Given the description of an element on the screen output the (x, y) to click on. 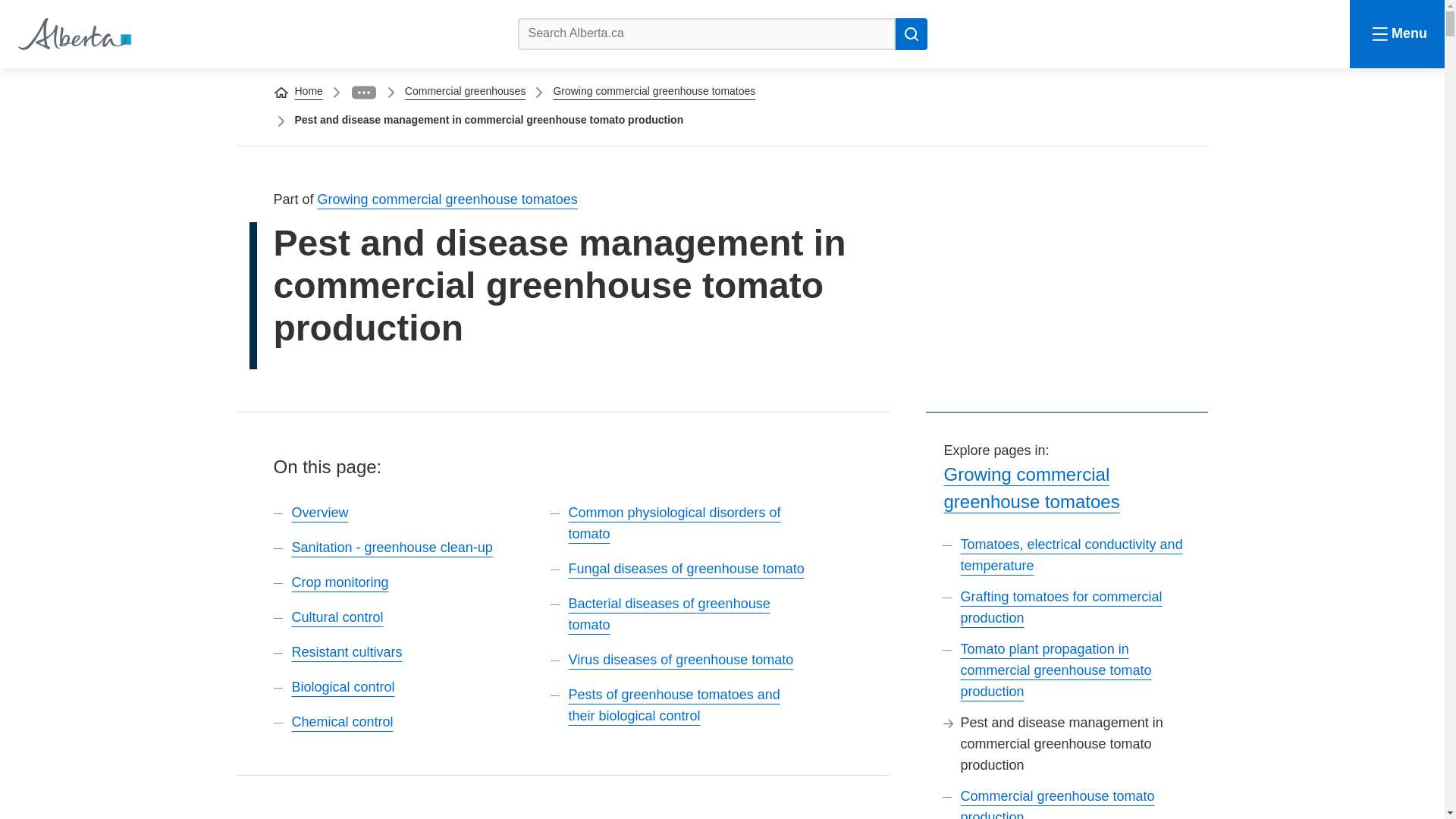
Growing commercial greenhouse tomatoes (654, 91)
Home (307, 91)
Growing commercial greenhouse tomatoes (447, 199)
Alberta.ca (73, 33)
Home (73, 33)
Growing commercial greenhouse tomatoes (1031, 487)
Commercial greenhouses (464, 91)
